Given the description of an element on the screen output the (x, y) to click on. 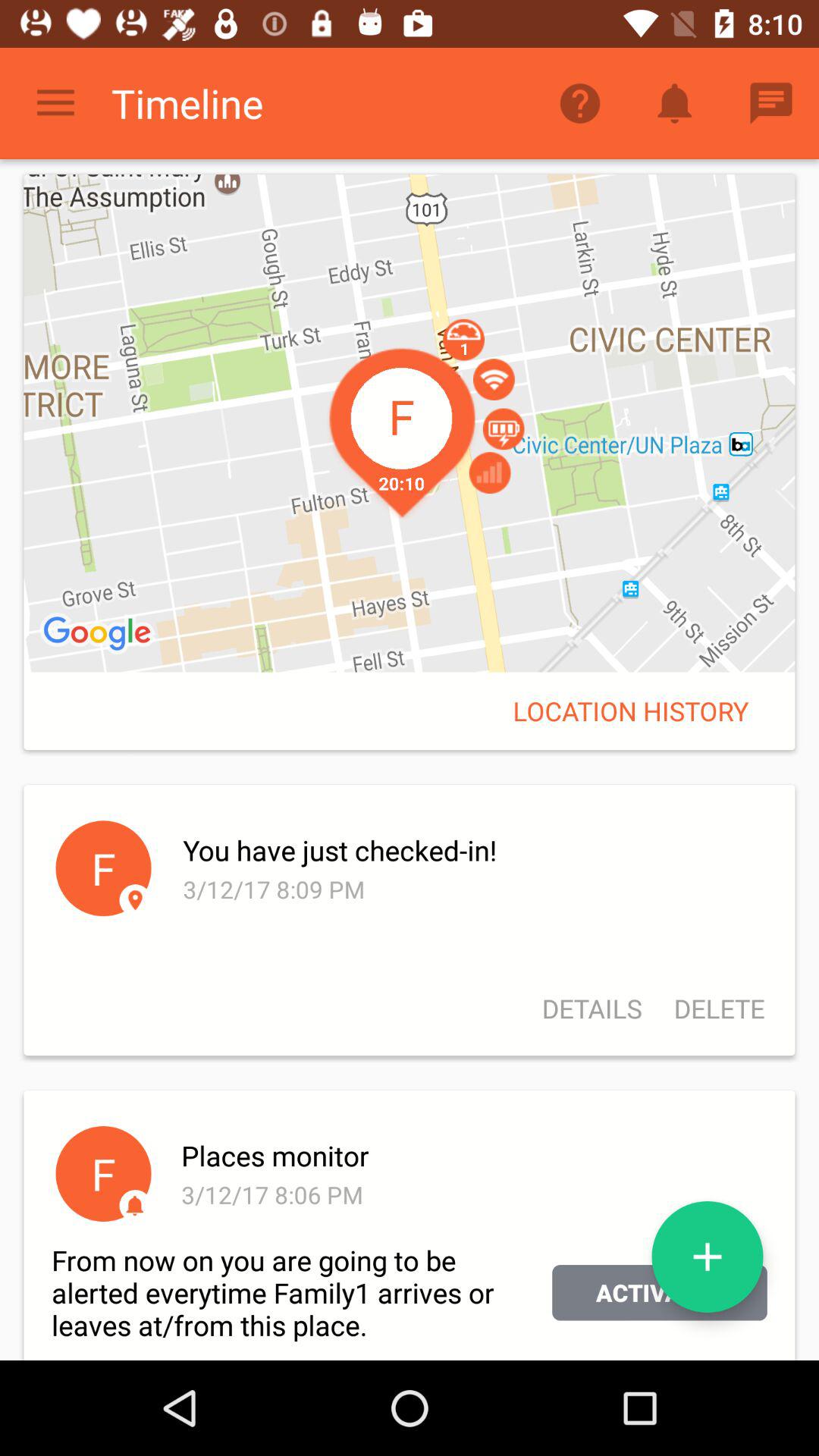
press the item next to delete icon (592, 1008)
